Given the description of an element on the screen output the (x, y) to click on. 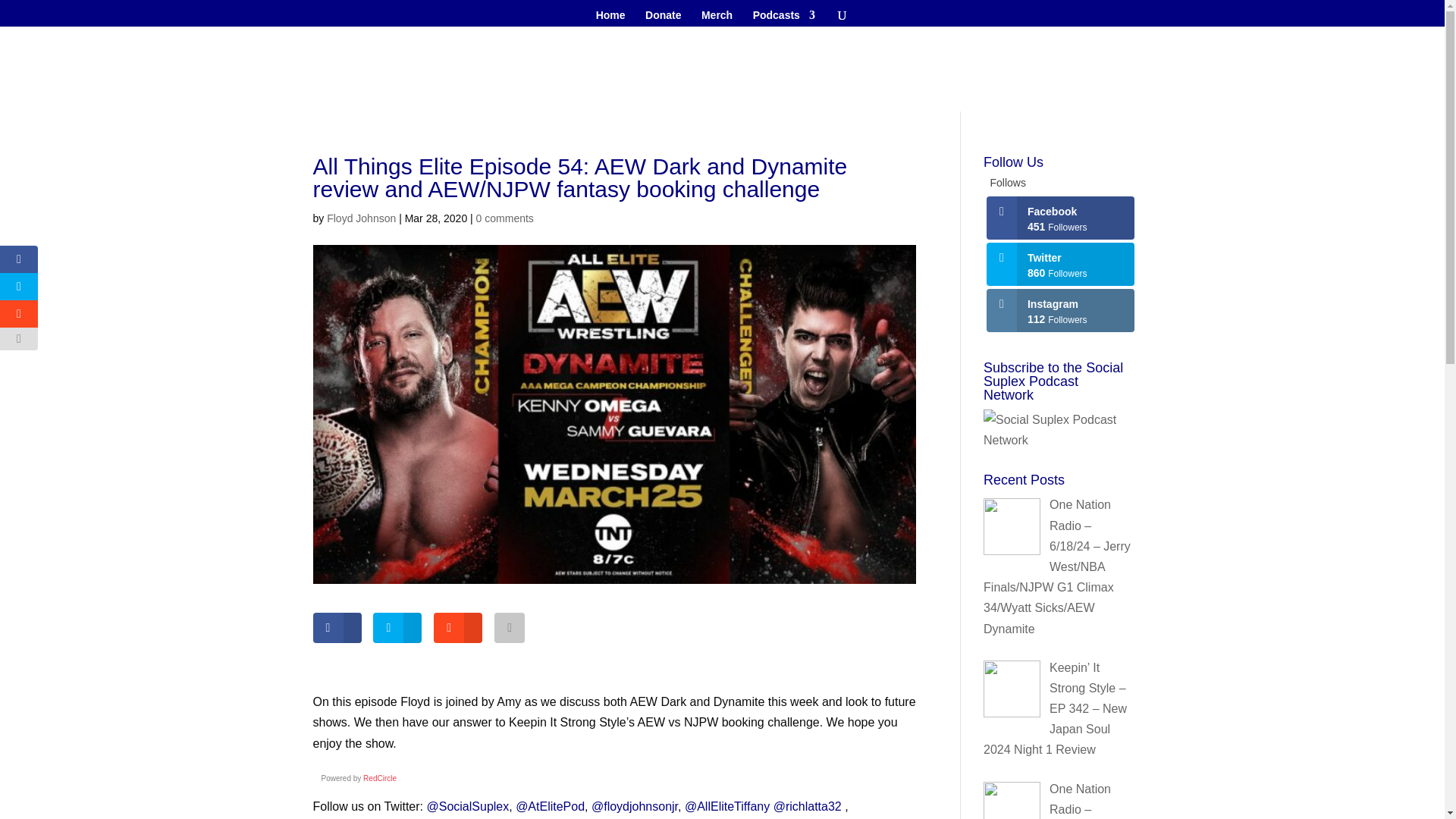
Subscribe to the Social Suplex Podcast Network (1057, 429)
Facebook 451 Followers (1060, 217)
Donate (663, 17)
Floyd Johnson (361, 218)
Posts by Floyd Johnson (361, 218)
0 comments (505, 218)
Merch (716, 17)
Twitter 860 Followers (1060, 263)
RedCircle (379, 777)
Home (610, 17)
Podcasts (783, 17)
